Given the description of an element on the screen output the (x, y) to click on. 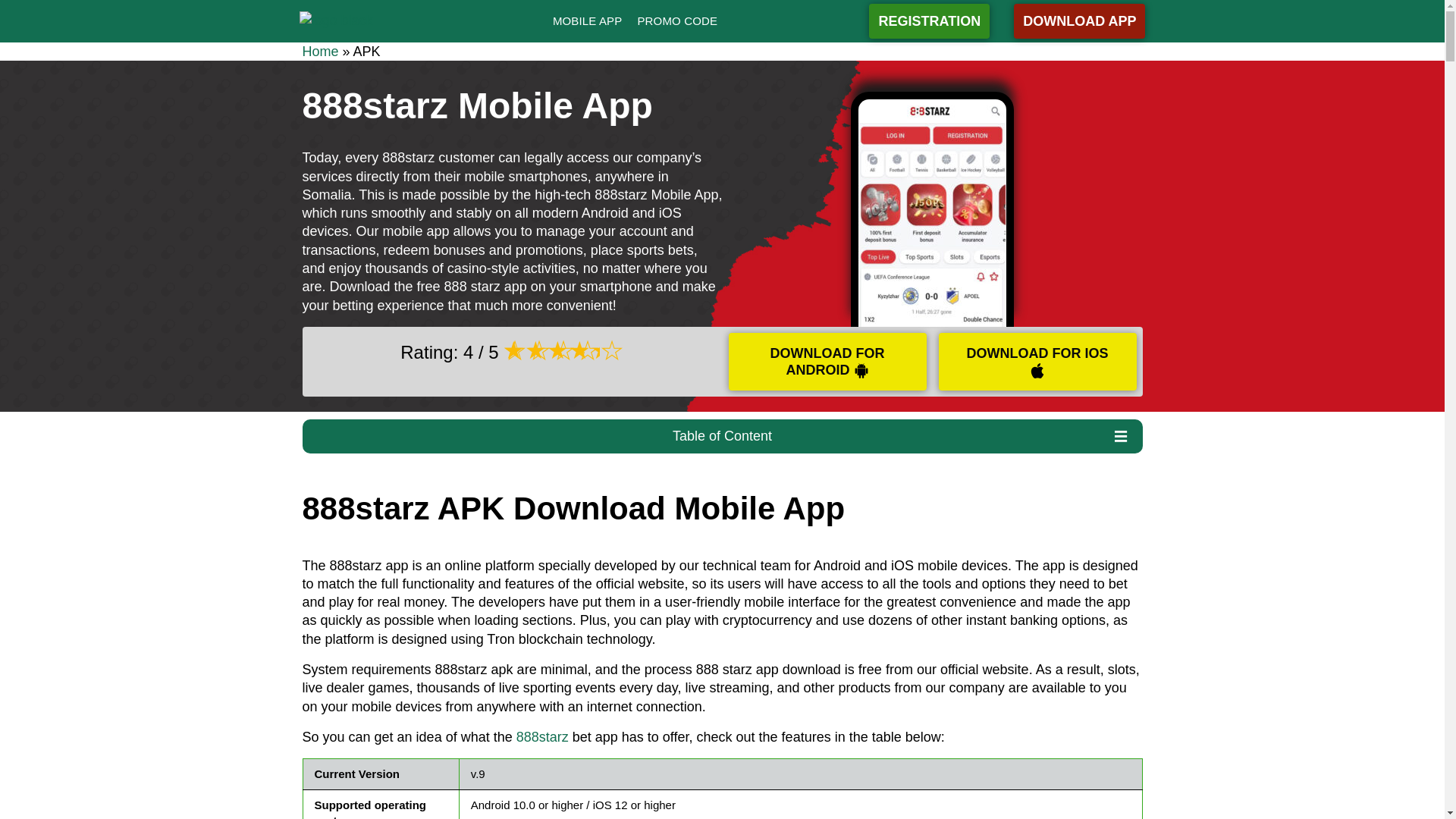
REGISTRATION (929, 21)
Home (319, 51)
DOWNLOAD FOR IOS (1038, 361)
PROMO CODE (676, 21)
Home (319, 51)
888starz (542, 736)
DOWNLOAD APP (1078, 21)
DOWNLOAD FOR ANDROID (827, 361)
MOBILE APP (587, 21)
